Given the description of an element on the screen output the (x, y) to click on. 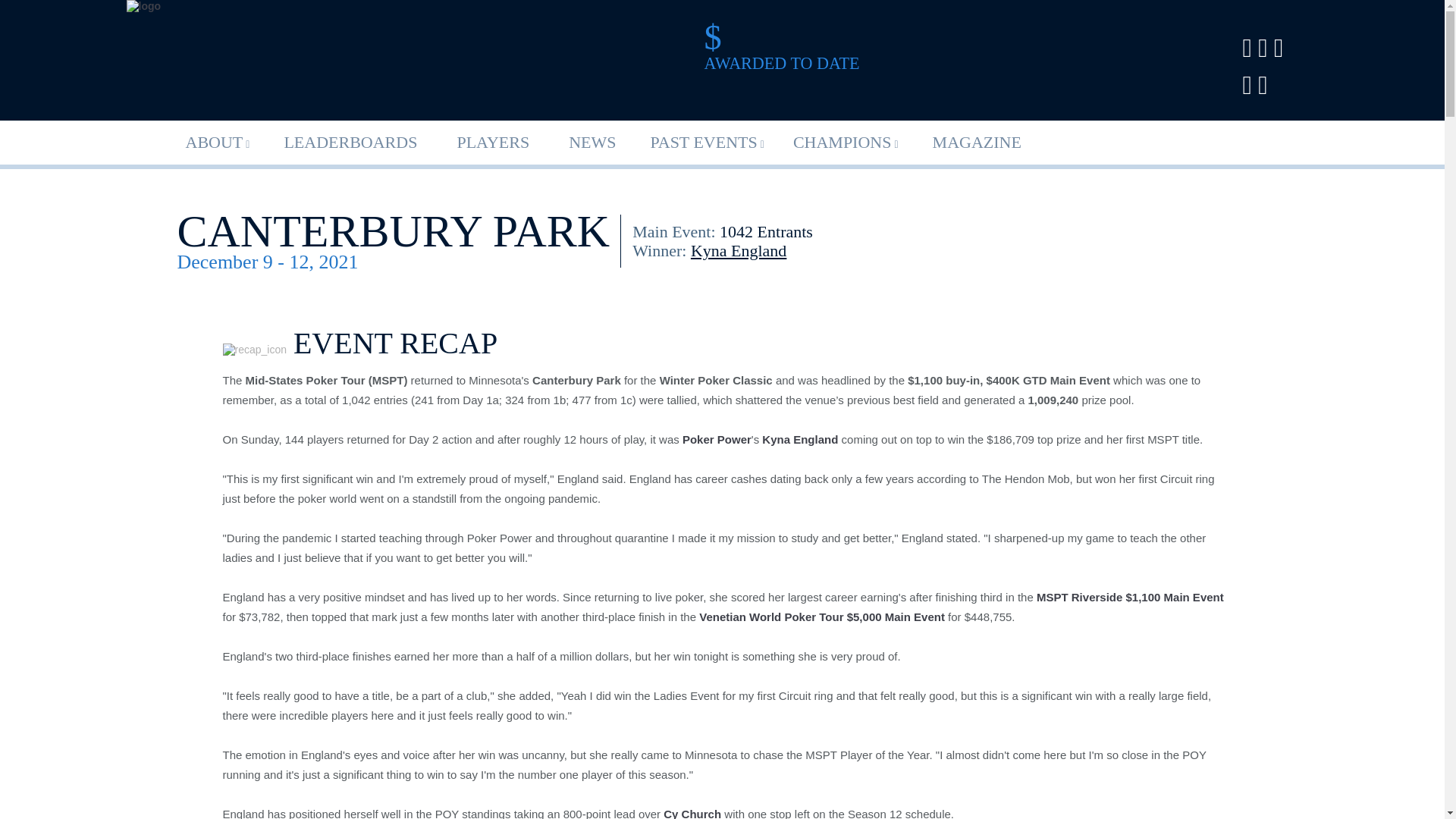
NEWS (592, 142)
Kyna England (738, 250)
ABOUT (216, 143)
PLAYERS (493, 142)
MAGAZINE (977, 142)
Poker Power (716, 439)
LEADERBOARDS (349, 142)
PAST EVENTS (707, 143)
Cy Church (693, 813)
CHAMPIONS (845, 143)
Kyna England (799, 439)
